Given the description of an element on the screen output the (x, y) to click on. 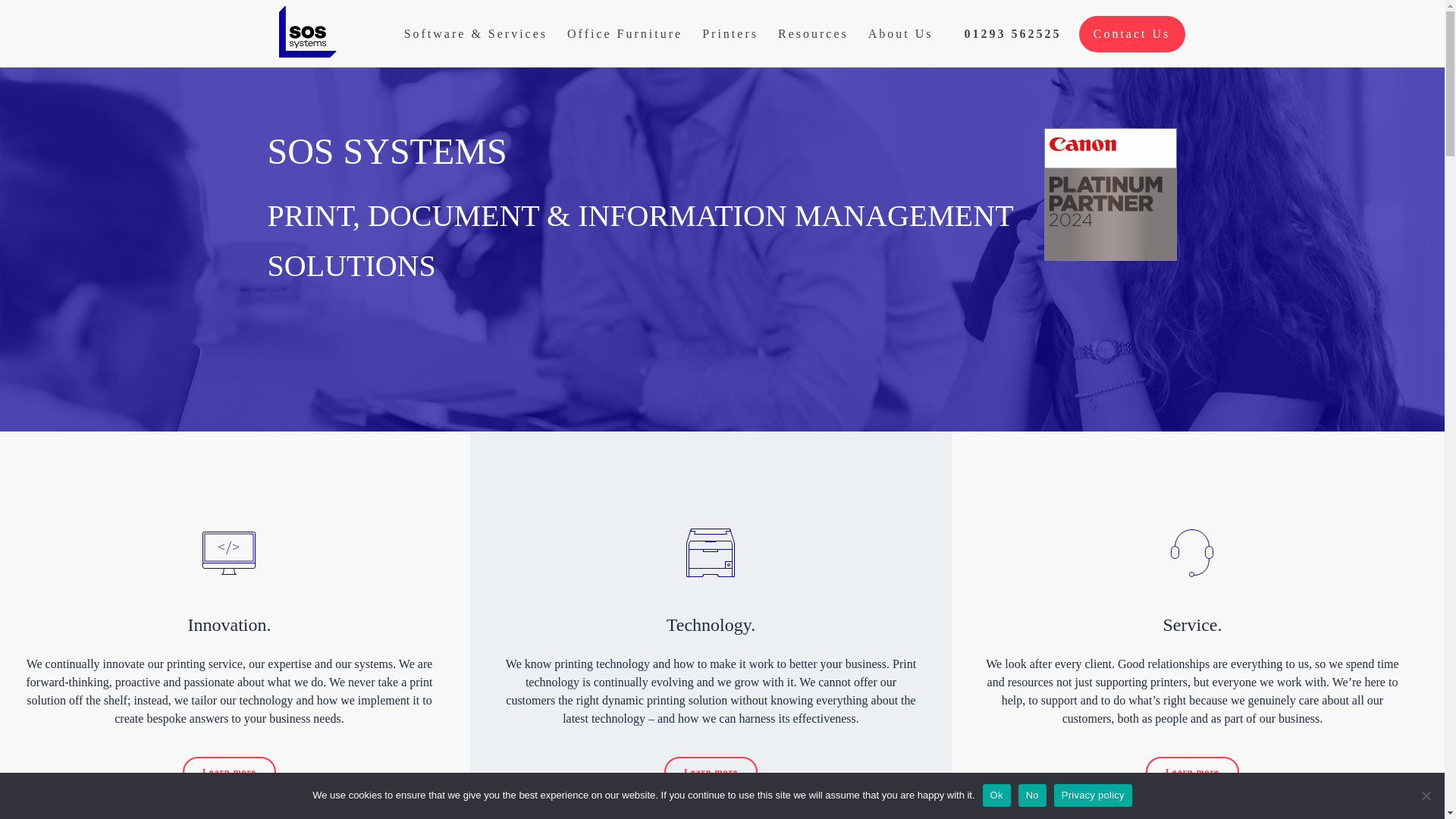
Learn more (229, 771)
Learn more (710, 771)
Office Furniture (625, 34)
Resources (813, 34)
icon-service (1192, 552)
Printers (730, 34)
01293 562525 (1011, 34)
Office Furniture (625, 34)
Contact Us (1131, 33)
Contact Us (1131, 33)
Resources (813, 34)
Learn more (1192, 771)
About Us (901, 34)
icon-technology (710, 552)
01293 562525 (1011, 34)
